Given the description of an element on the screen output the (x, y) to click on. 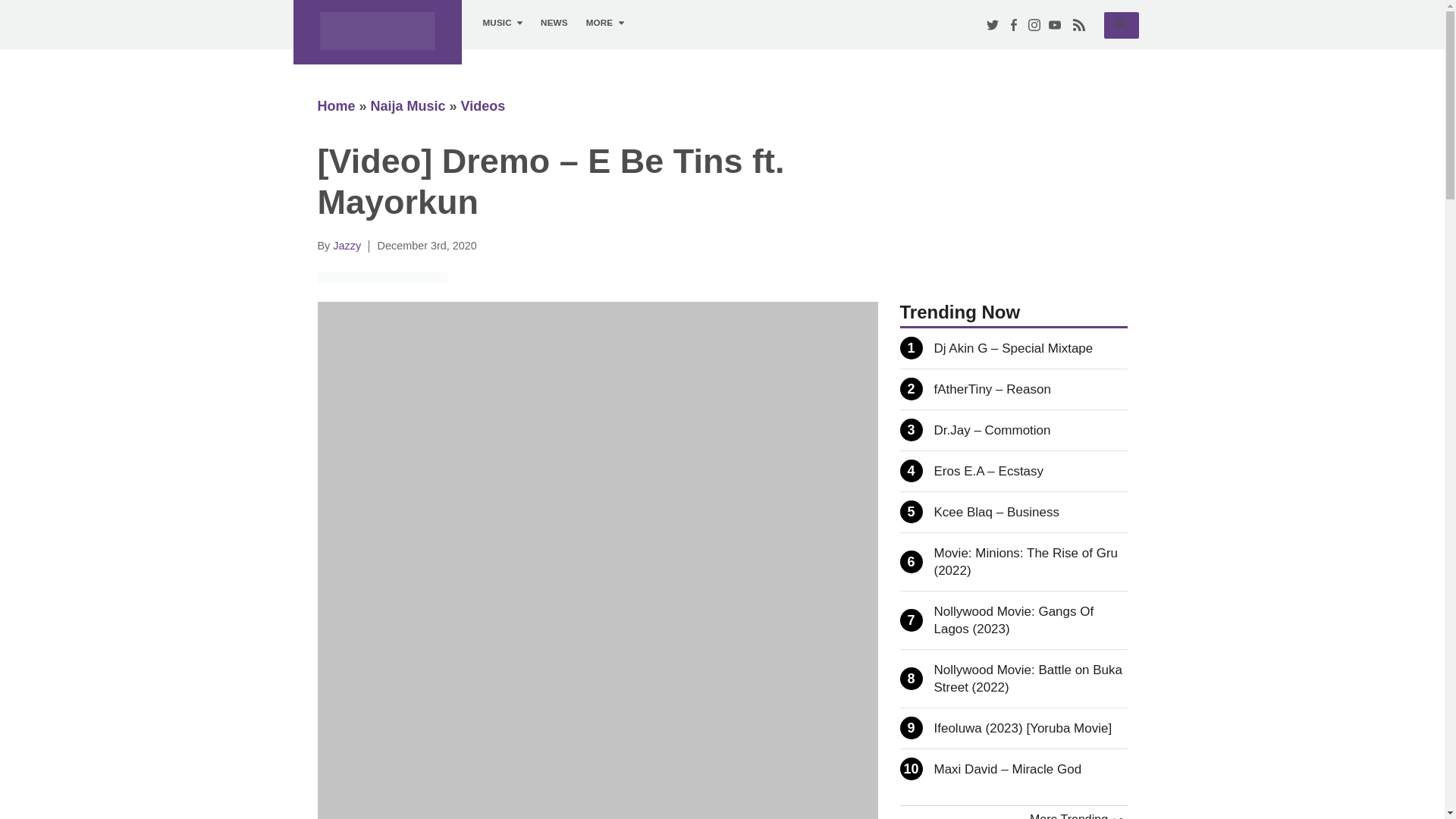
MUSIC (502, 22)
Videos (483, 105)
Posts by Jazzy (347, 245)
MORE (604, 22)
Search (1120, 24)
OneMusicNaija (376, 31)
Naija Music (408, 105)
Jazzy (347, 245)
NEWS (1120, 25)
